Given the description of an element on the screen output the (x, y) to click on. 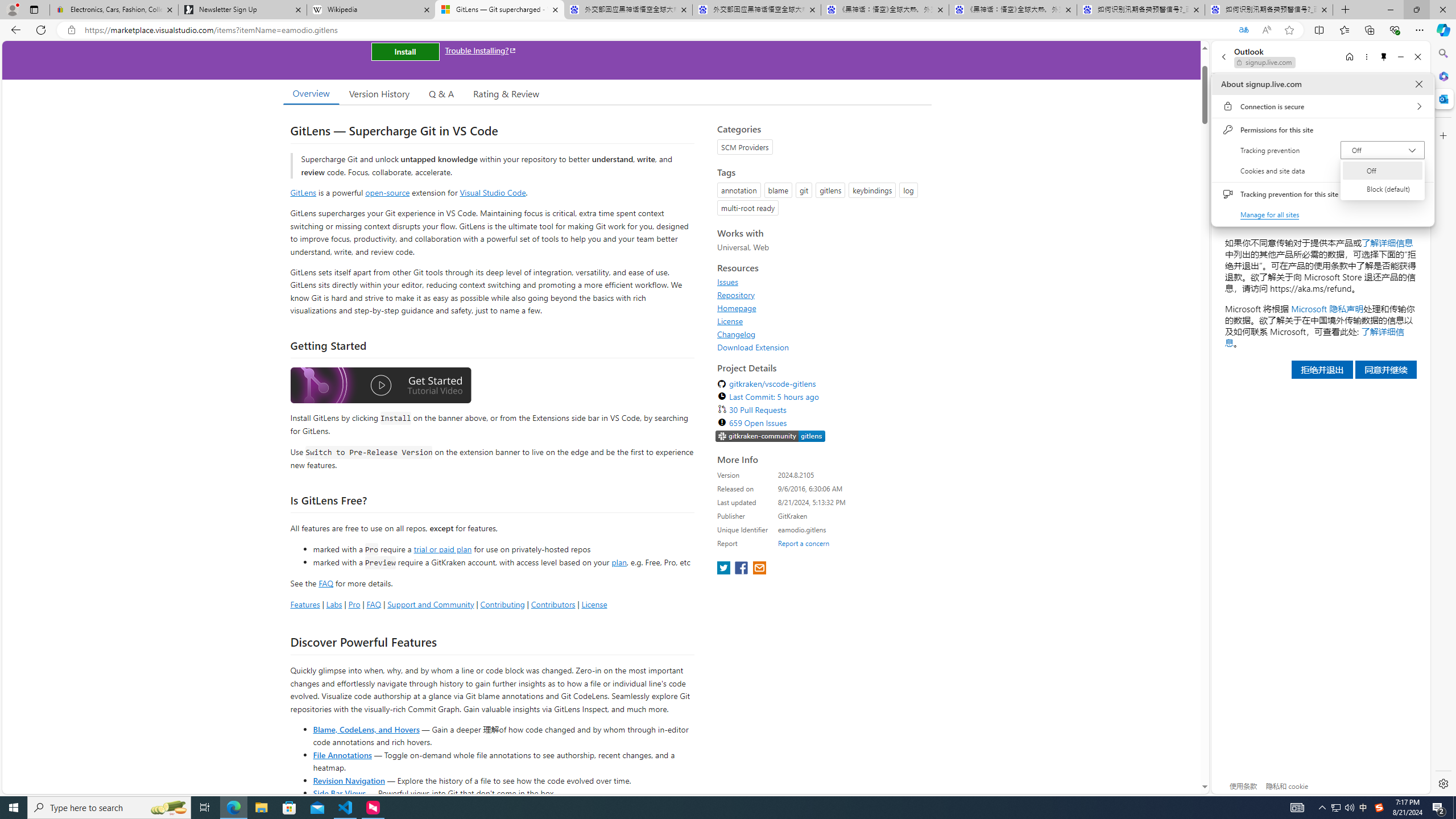
Q2790: 100% (1349, 807)
Visual Studio Code - 1 running window (345, 807)
Tracking prevention Off (1382, 149)
Connection is secure (1322, 105)
File Explorer (261, 807)
Task View (204, 807)
Start (1335, 807)
Tracking prevention for this site (Balanced) (13, 807)
Show desktop (1413, 193)
Permissions for this site (1454, 807)
User Promoted Notification Area (1322, 129)
